Given the description of an element on the screen output the (x, y) to click on. 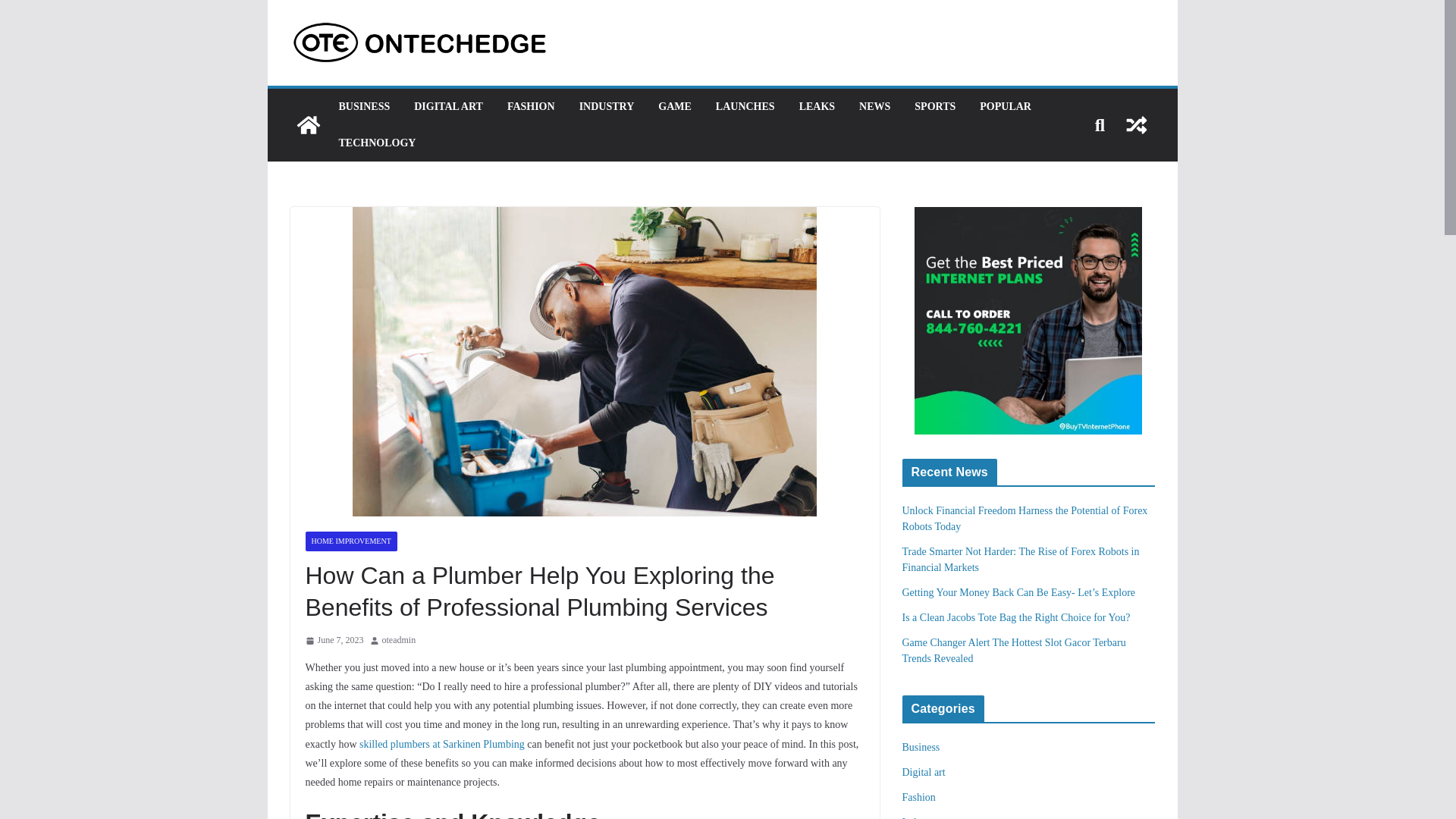
BUSINESS (363, 106)
HOME IMPROVEMENT (350, 541)
skilled plumbers at Sarkinen Plumbing (441, 744)
NEWS (874, 106)
LAUNCHES (745, 106)
June 7, 2023 (333, 640)
5:28 pm (333, 640)
OnTechEdge (307, 125)
FASHION (530, 106)
oteadmin (398, 640)
POPULAR (1004, 106)
View a random post (1136, 125)
LEAKS (816, 106)
